Given the description of an element on the screen output the (x, y) to click on. 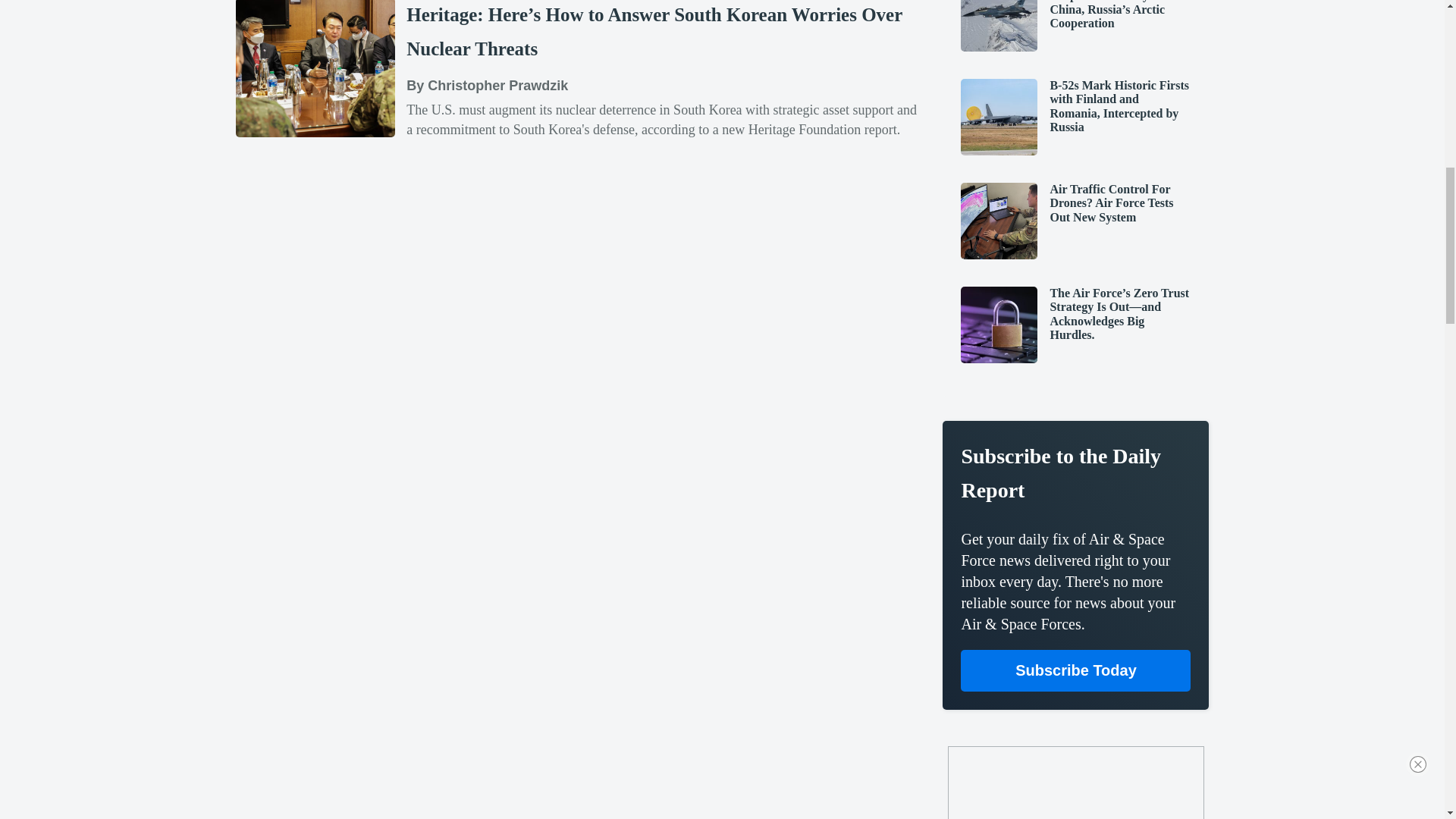
3rd party ad content (1075, 785)
